Given the description of an element on the screen output the (x, y) to click on. 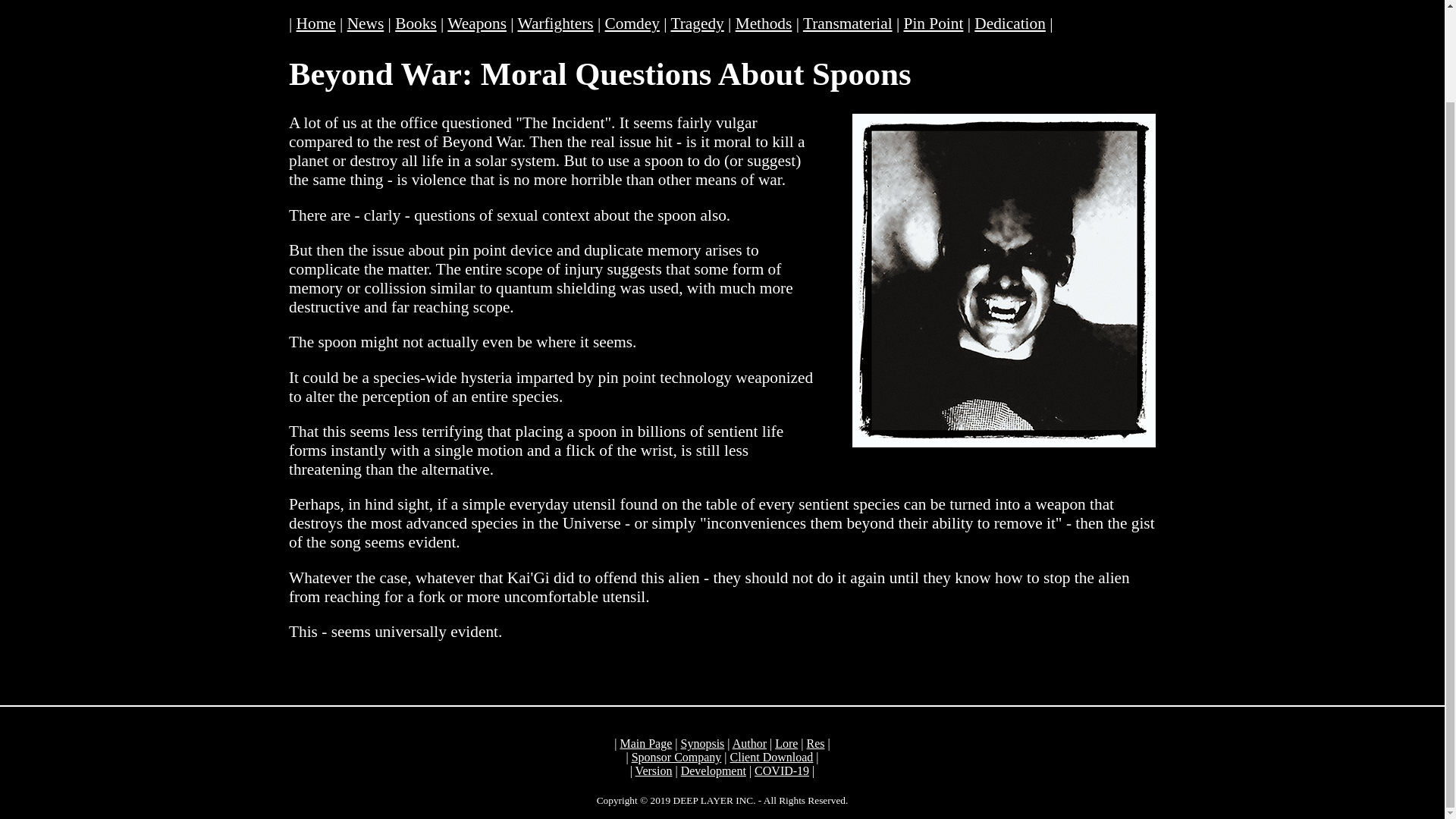
Development (713, 770)
Books (415, 23)
Author (749, 743)
Weapons (476, 23)
Warfighters (554, 23)
Comdey (632, 23)
Version (653, 770)
Main Page (645, 743)
News (365, 23)
Tragedy (696, 23)
Dedication (1009, 23)
Synopsis (703, 743)
Lore (785, 743)
Res (815, 743)
Client Download (771, 757)
